Given the description of an element on the screen output the (x, y) to click on. 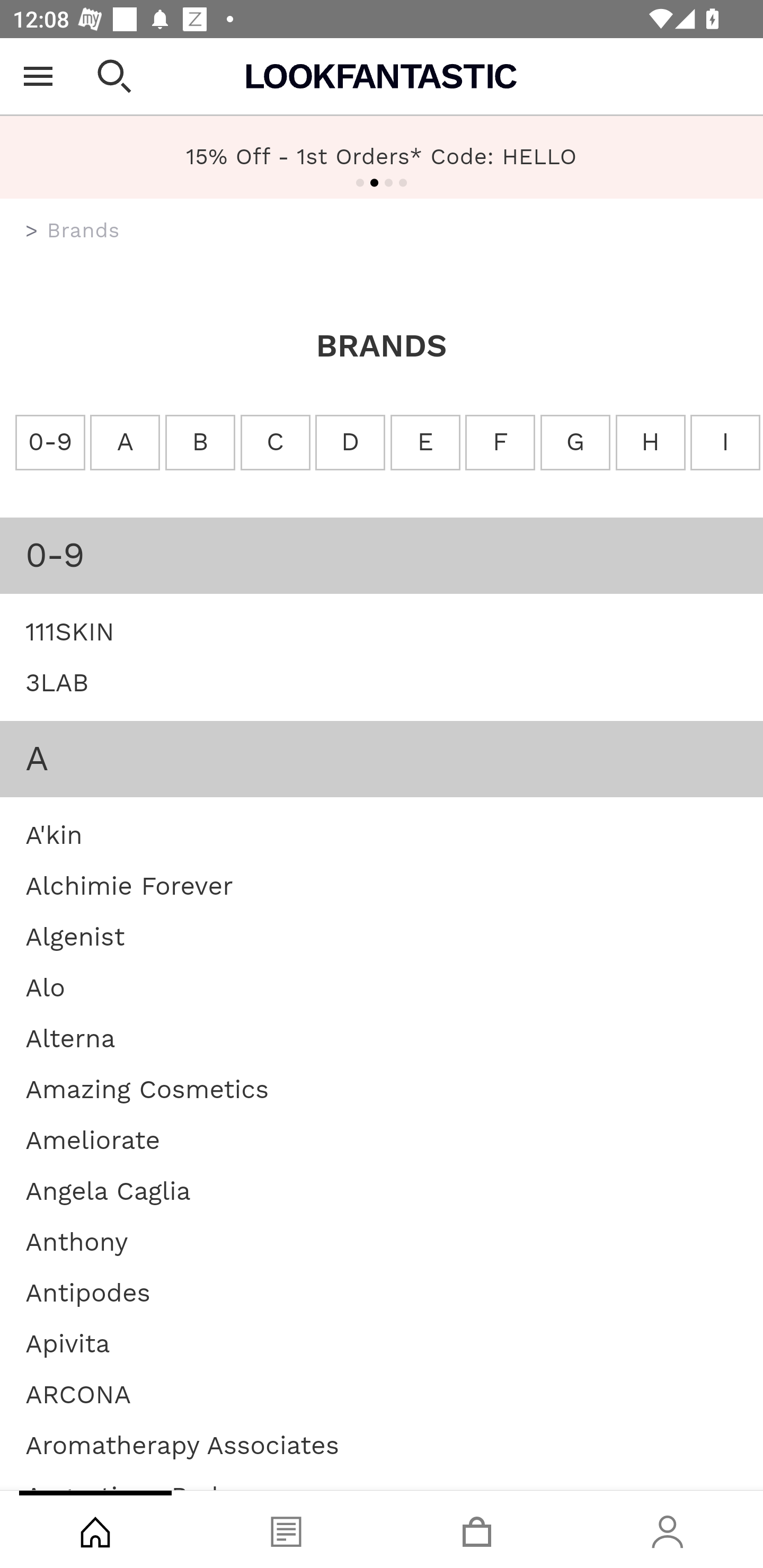
Open Menu (38, 75)
Open search (114, 75)
Lookfantastic USA (381, 75)
us.lookfantastic (32, 230)
0-9 (49, 443)
A (124, 443)
B (199, 443)
C (275, 443)
D (350, 443)
E (424, 443)
F (499, 443)
G (574, 443)
H (650, 443)
I (725, 443)
111SKIN (69, 630)
3LAB (57, 681)
A'kin (53, 833)
Alchimie Forever (129, 884)
Algenist (75, 935)
Alo (46, 986)
Alterna (70, 1037)
Amazing Cosmetics (147, 1087)
Ameliorate (92, 1139)
Angela Caglia (108, 1189)
Anthony (76, 1240)
Antipodes (88, 1291)
Apivita (68, 1342)
ARCONA (78, 1393)
Aromatherapy Associates (182, 1443)
Shop, tab, 1 of 4 (95, 1529)
Blog, tab, 2 of 4 (285, 1529)
Basket, tab, 3 of 4 (476, 1529)
Account, tab, 4 of 4 (667, 1529)
